Given the description of an element on the screen output the (x, y) to click on. 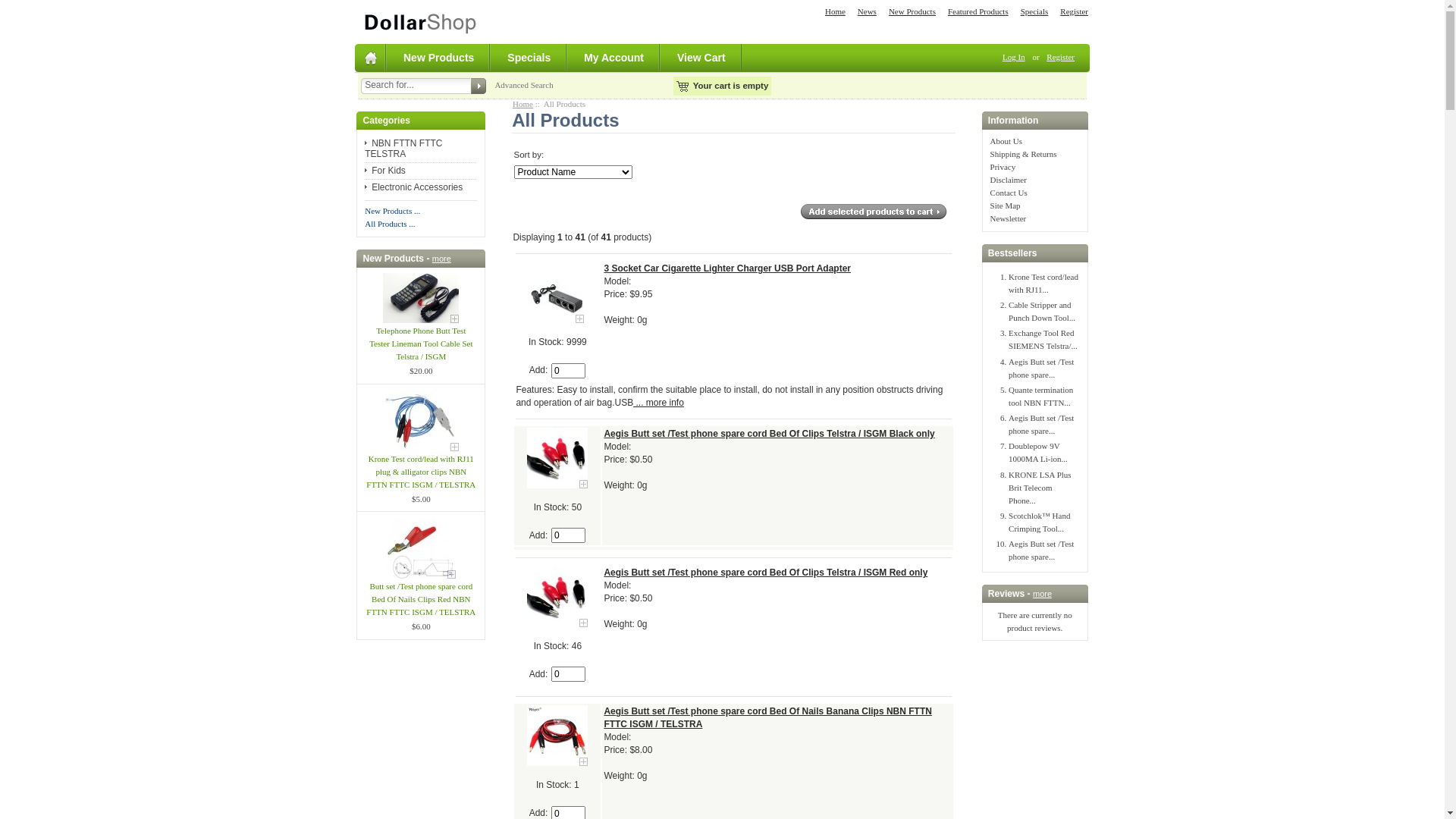
Cable Stripper and Punch Down Tool... Element type: text (1041, 311)
Log In Element type: text (1013, 56)
View Cart Element type: text (701, 57)
Aegis Butt set /Test phone spare... Element type: text (1040, 424)
New Products Element type: text (911, 10)
Doublepow 9V 1000MA Li-ion... Element type: text (1037, 452)
Electronic Accessories Element type: text (413, 187)
Advanced Search Element type: text (523, 84)
Quante termination tool NBN FTTN... Element type: text (1040, 396)
Register Element type: text (1074, 10)
My Account Element type: text (614, 57)
New Products Element type: text (439, 57)
Home Element type: text (522, 103)
Privacy Element type: text (1003, 166)
KRONE LSA Plus Brit Telecom Phone... Element type: text (1039, 487)
 Powered by Zen Cart :: The Art of E-Commerce  Element type: hover (419, 21)
Disclaimer Element type: text (1008, 179)
 Add Selected Products to Cart  Element type: hover (873, 211)
Register Element type: text (1060, 56)
3 Socket Car Cigarette Lighter Charger USB Port Adapter Element type: text (726, 268)
News Element type: text (866, 10)
Contact Us Element type: text (1008, 192)
 3 Socket Car Cigarette Lighter Charger USB Port Adapter  Element type: hover (556, 292)
All Products ... Element type: text (389, 223)
About Us Element type: text (1006, 140)
Krone Test cord/lead with RJ11... Element type: text (1043, 283)
... more info Element type: text (658, 402)
Specials Element type: text (1034, 10)
NBN FTTN FTTC TELSTRA Element type: text (403, 148)
Home Element type: text (835, 10)
Aegis Butt set /Test phone spare... Element type: text (1040, 368)
Newsletter Element type: text (1008, 217)
Site Map Element type: text (1005, 205)
New Products ... Element type: text (392, 210)
Specials Element type: text (529, 57)
Featured Products Element type: text (977, 10)
Shipping & Returns Element type: text (1023, 153)
more Element type: text (1041, 593)
Exchange Tool Red SIEMENS Telstra/... Element type: text (1042, 339)
For Kids Element type: text (384, 170)
Aegis Butt set /Test phone spare... Element type: text (1040, 550)
more Element type: text (441, 258)
